Given the description of an element on the screen output the (x, y) to click on. 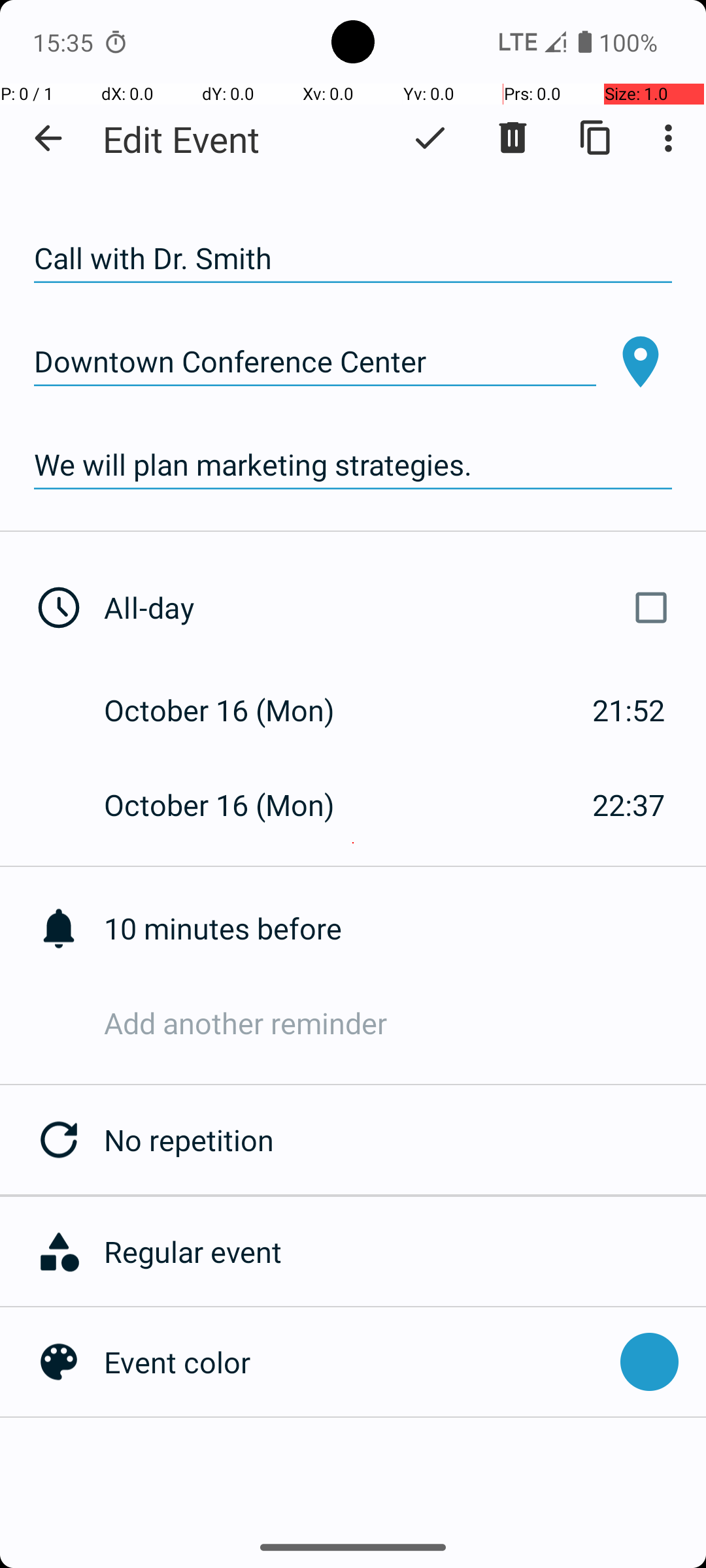
Downtown Conference Center Element type: android.widget.EditText (314, 361)
We will plan marketing strategies. Element type: android.widget.EditText (352, 465)
21:52 Element type: android.widget.TextView (628, 709)
22:37 Element type: android.widget.TextView (628, 804)
Add another reminder Element type: android.widget.TextView (404, 1022)
